Given the description of an element on the screen output the (x, y) to click on. 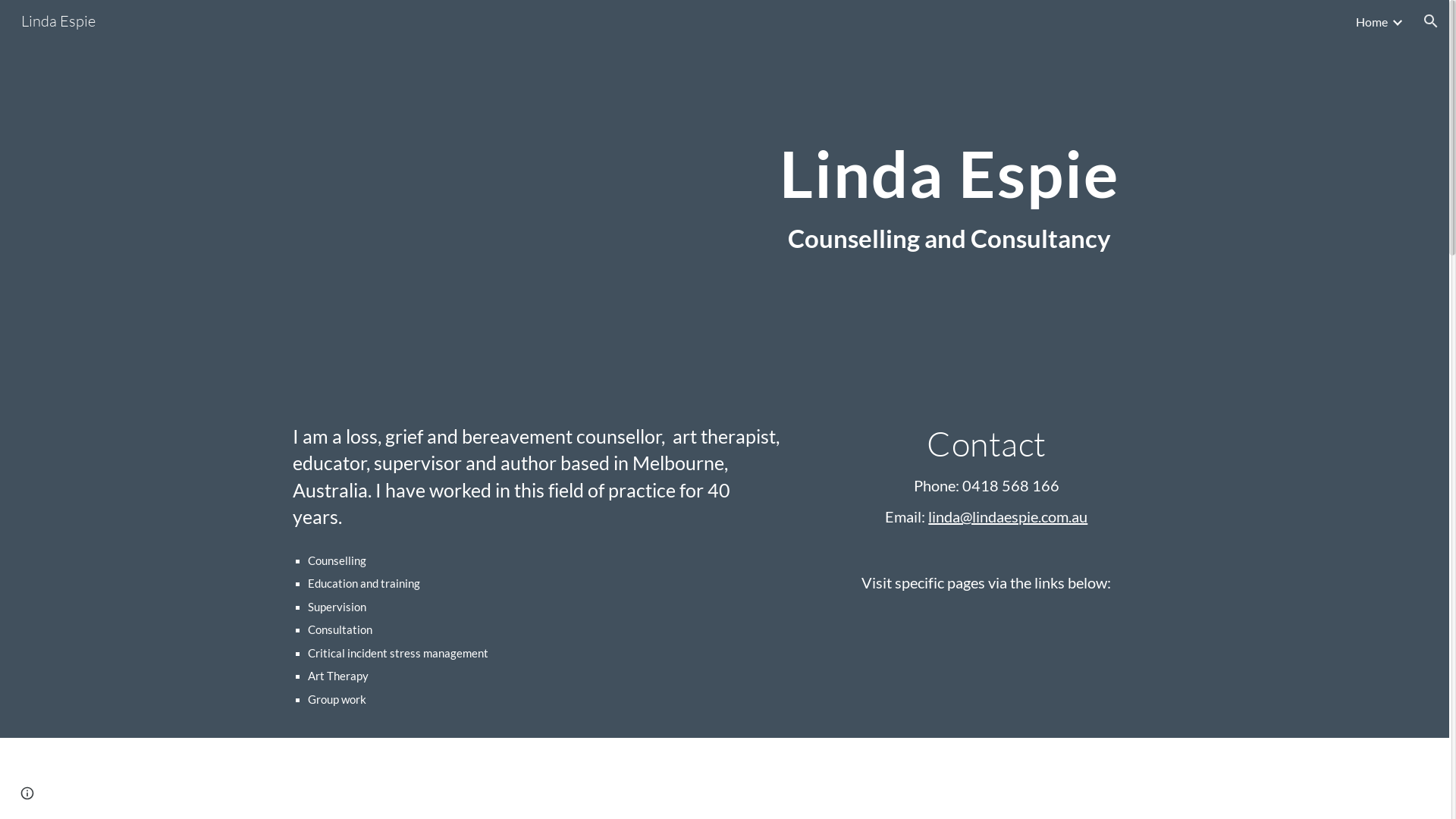
Linda Espie Element type: text (58, 18)
Photography Element type: text (1023, 774)
linda@lindaespie.com.au Element type: text (1007, 516)
Videos Element type: text (873, 774)
Counselling Element type: text (574, 774)
Publications Element type: text (425, 774)
Expand/Collapse Element type: hover (1396, 20)
Art Therapy Element type: text (724, 774)
Home Element type: text (1371, 20)
